Given the description of an element on the screen output the (x, y) to click on. 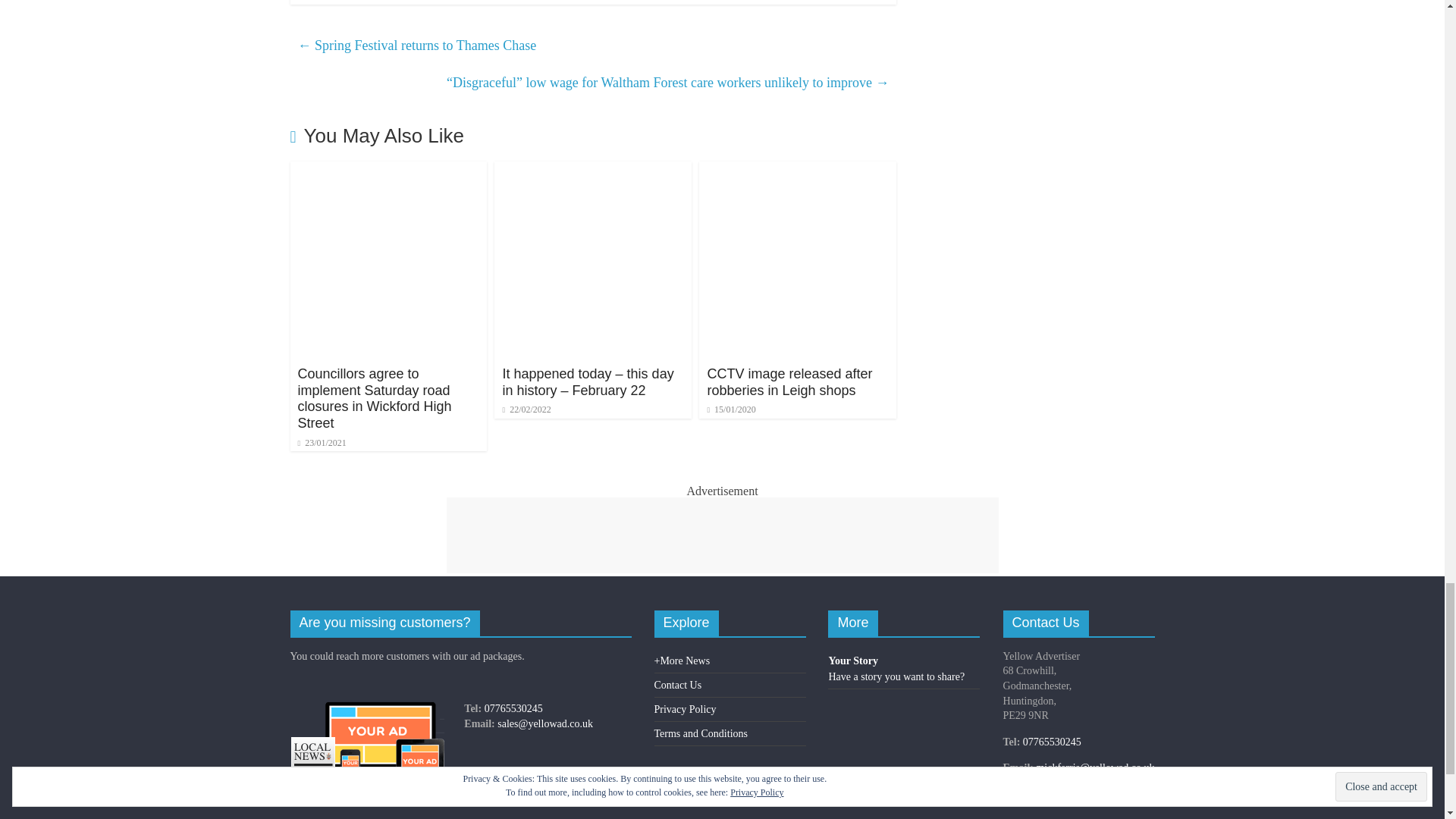
10:01 am (321, 442)
